Given the description of an element on the screen output the (x, y) to click on. 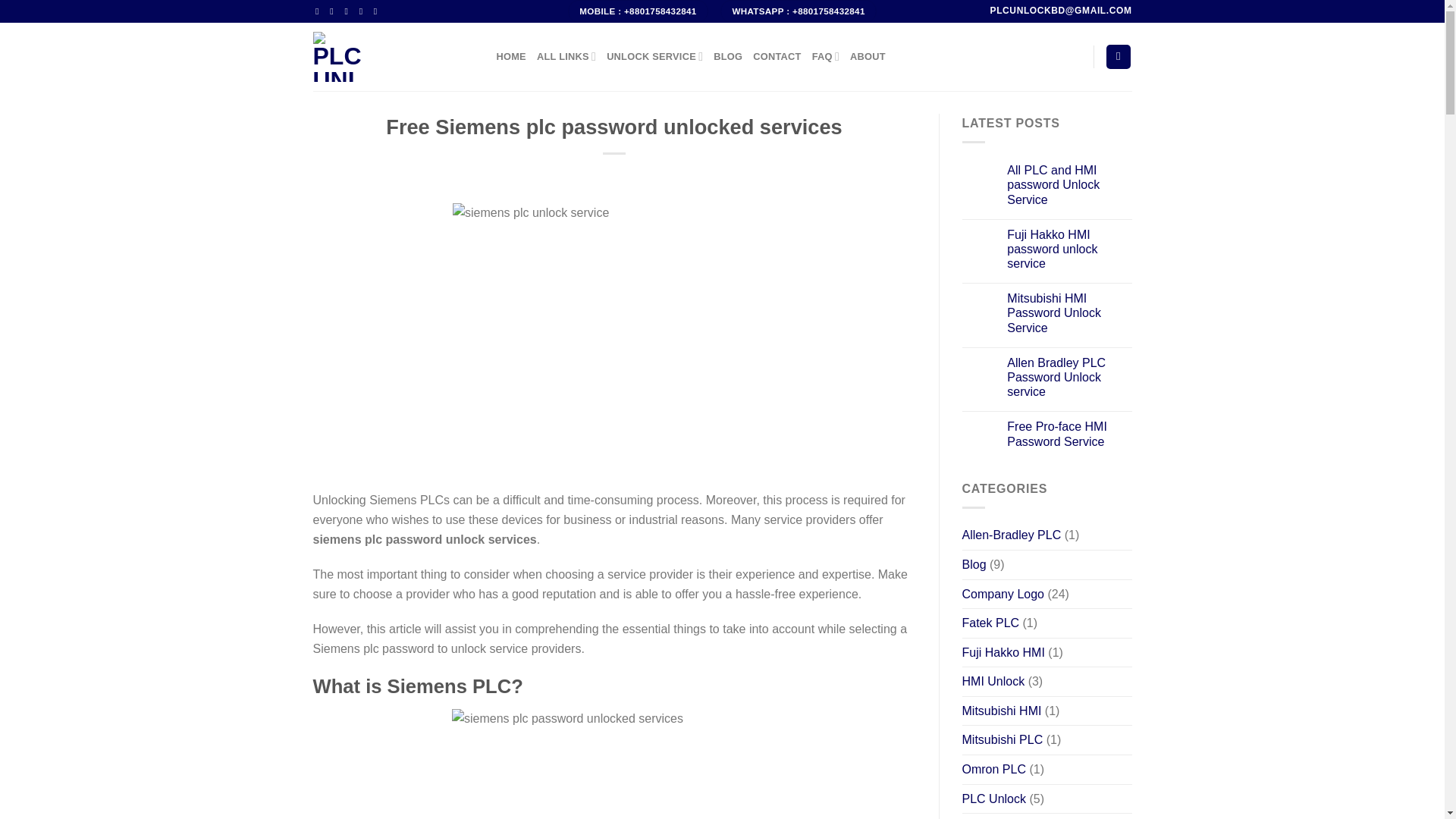
HOME (510, 56)
All PLC and HMI password Unlock Service (1069, 184)
BLOG (727, 56)
Mitsubishi HMI Password Unlock Service (1069, 312)
ABOUT (867, 56)
Allen Bradley PLC Password Unlock service (1069, 377)
CONTACT (776, 56)
UNLOCK SERVICE (655, 56)
FAQ (826, 56)
PLC unlock and Repair Sevices (393, 56)
